Given the description of an element on the screen output the (x, y) to click on. 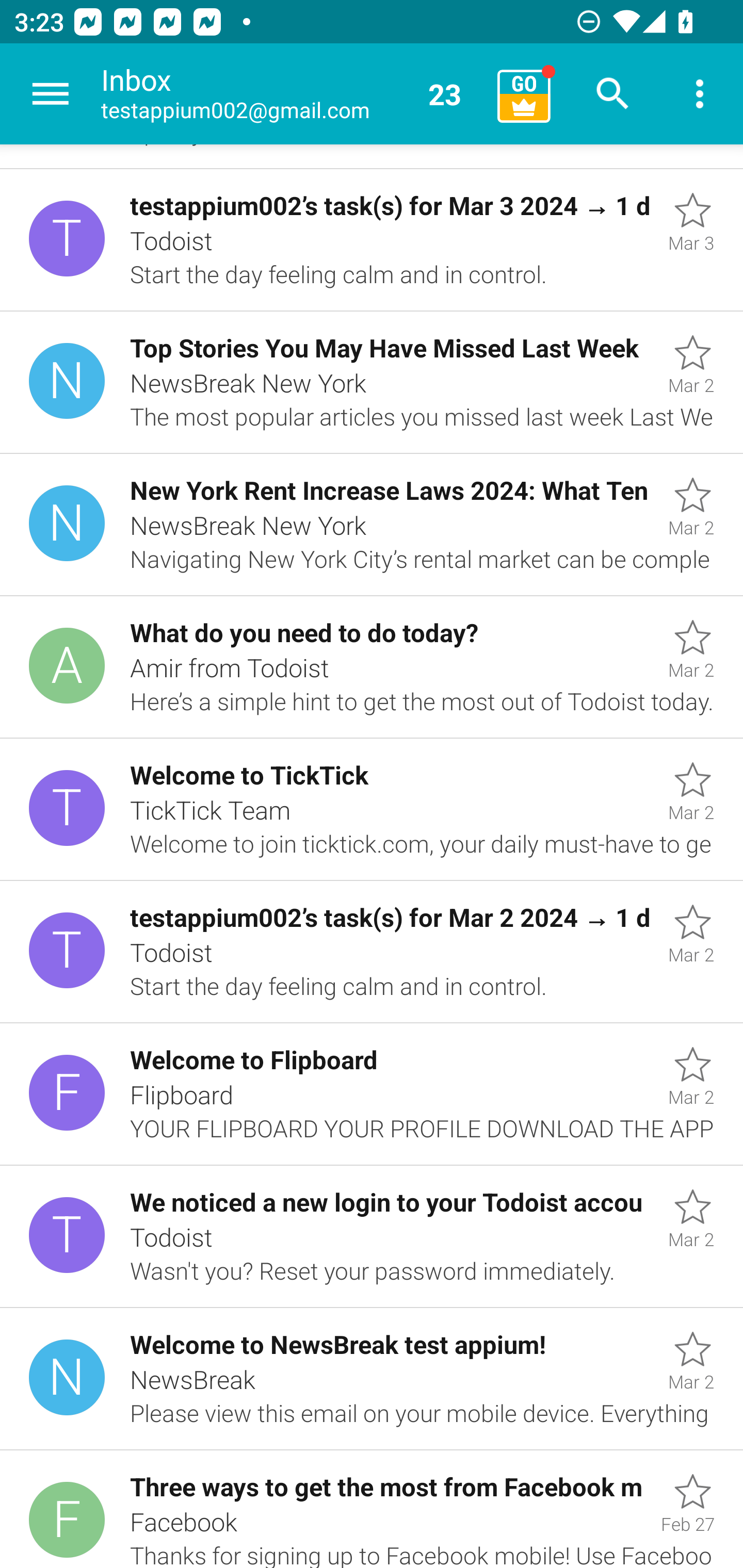
Navigate up (50, 93)
Inbox testappium002@gmail.com 23 (291, 93)
Search (612, 93)
More options (699, 93)
